Given the description of an element on the screen output the (x, y) to click on. 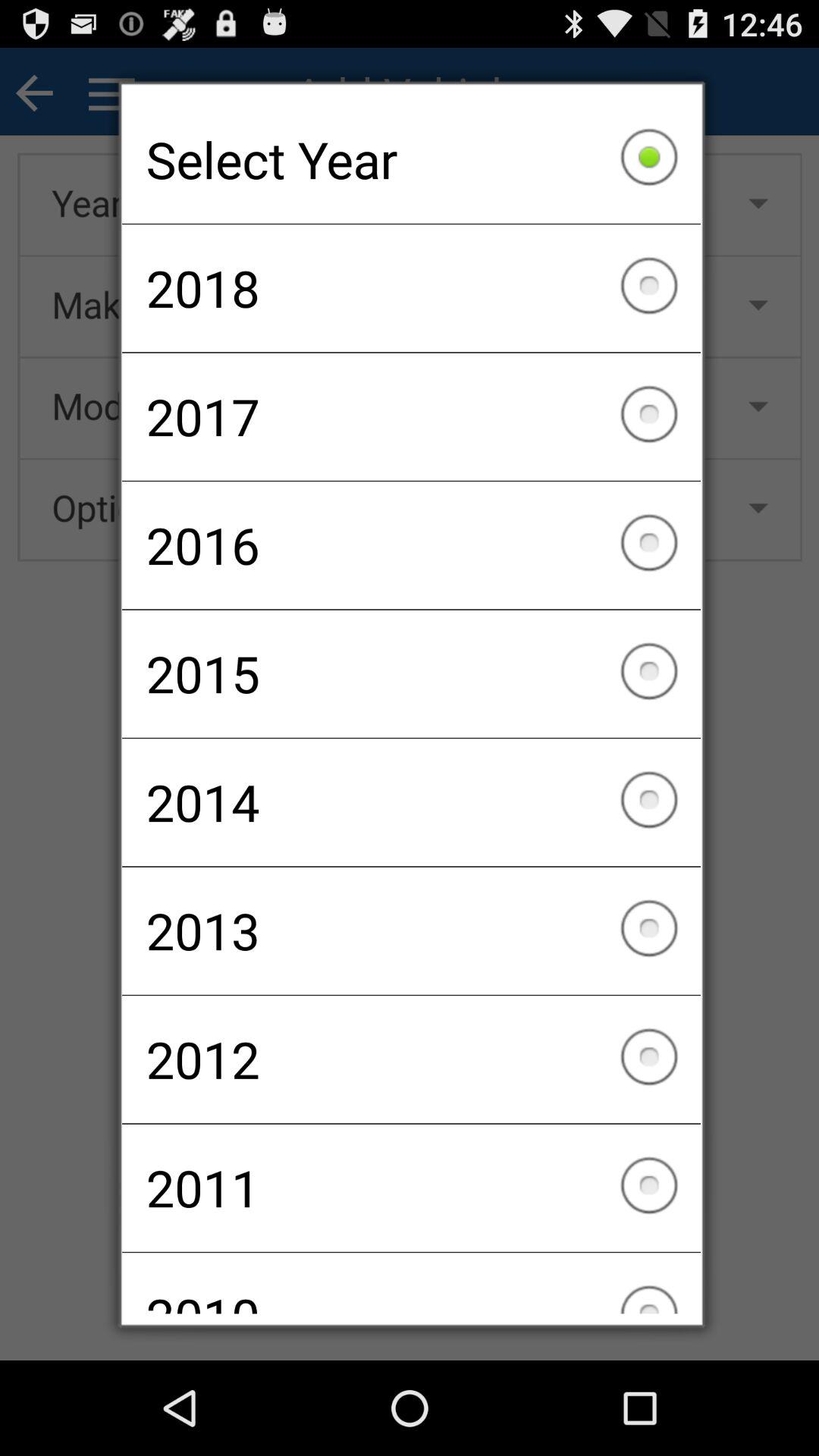
click icon above the 2010 checkbox (411, 1187)
